Given the description of an element on the screen output the (x, y) to click on. 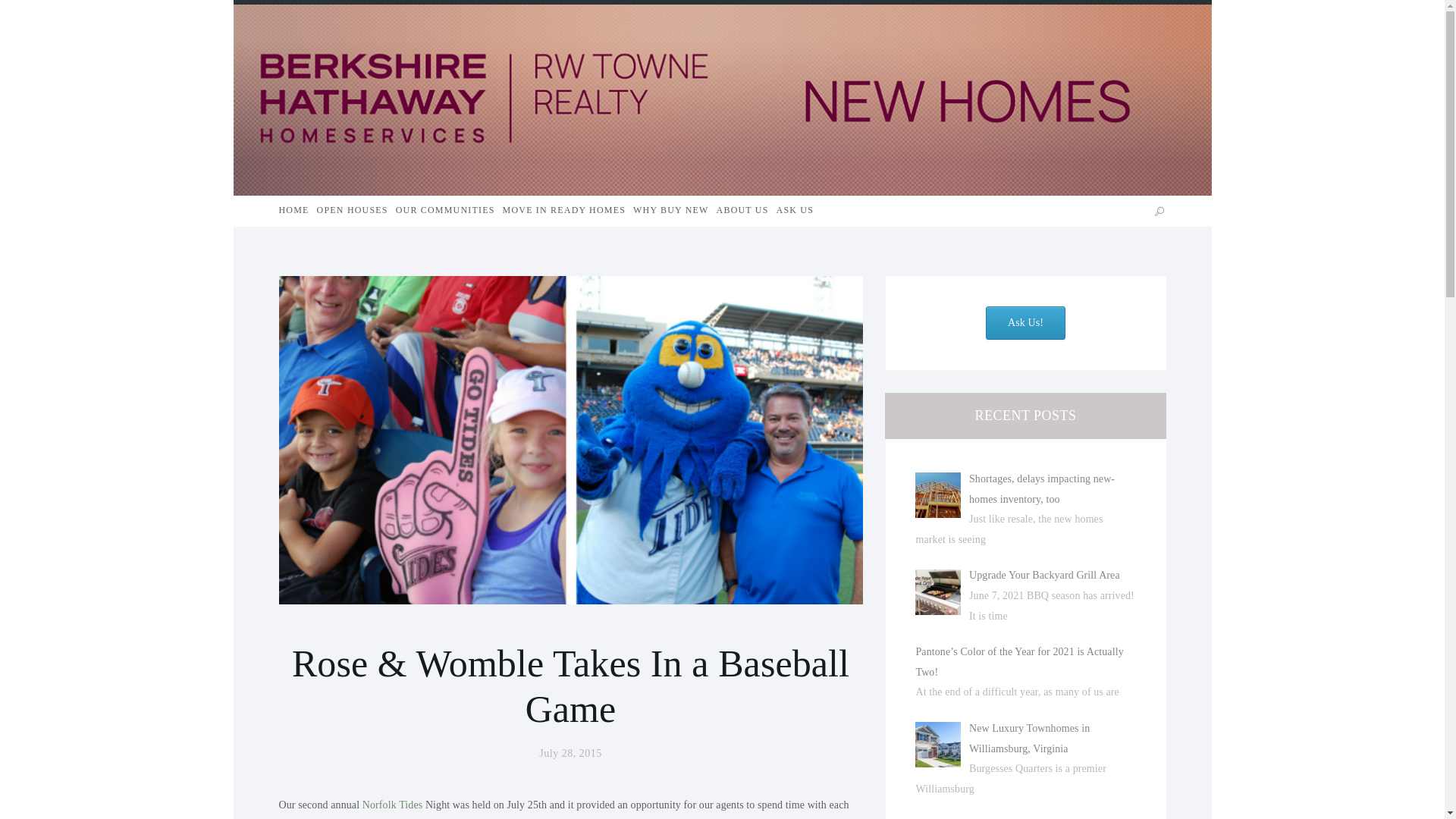
MOVE IN READY HOMES (564, 211)
Upgrade Your Backyard Grill Area (1044, 574)
HOME (293, 211)
Shortages, delays impacting new-homes inventory, too (1042, 489)
ASK US (794, 211)
WHY BUY NEW (671, 211)
Norfolk Tides (393, 804)
OUR COMMUNITIES (445, 211)
Start search (1160, 211)
New Luxury Townhomes in Williamsburg, Virginia (1029, 738)
ABOUT US (742, 211)
Ask Us! (1025, 322)
OPEN HOUSES (352, 211)
